Given the description of an element on the screen output the (x, y) to click on. 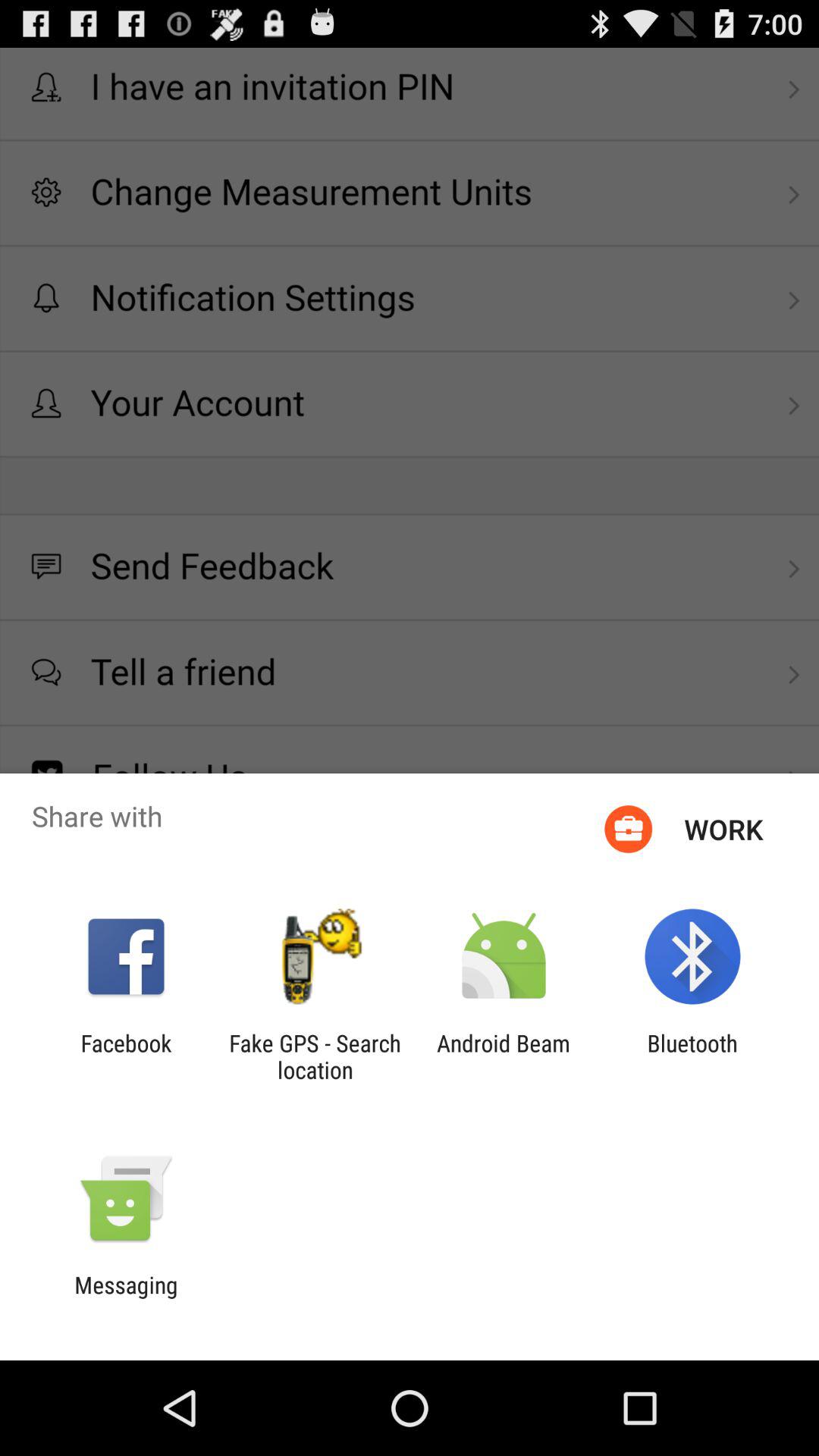
open item to the right of fake gps search app (503, 1056)
